Given the description of an element on the screen output the (x, y) to click on. 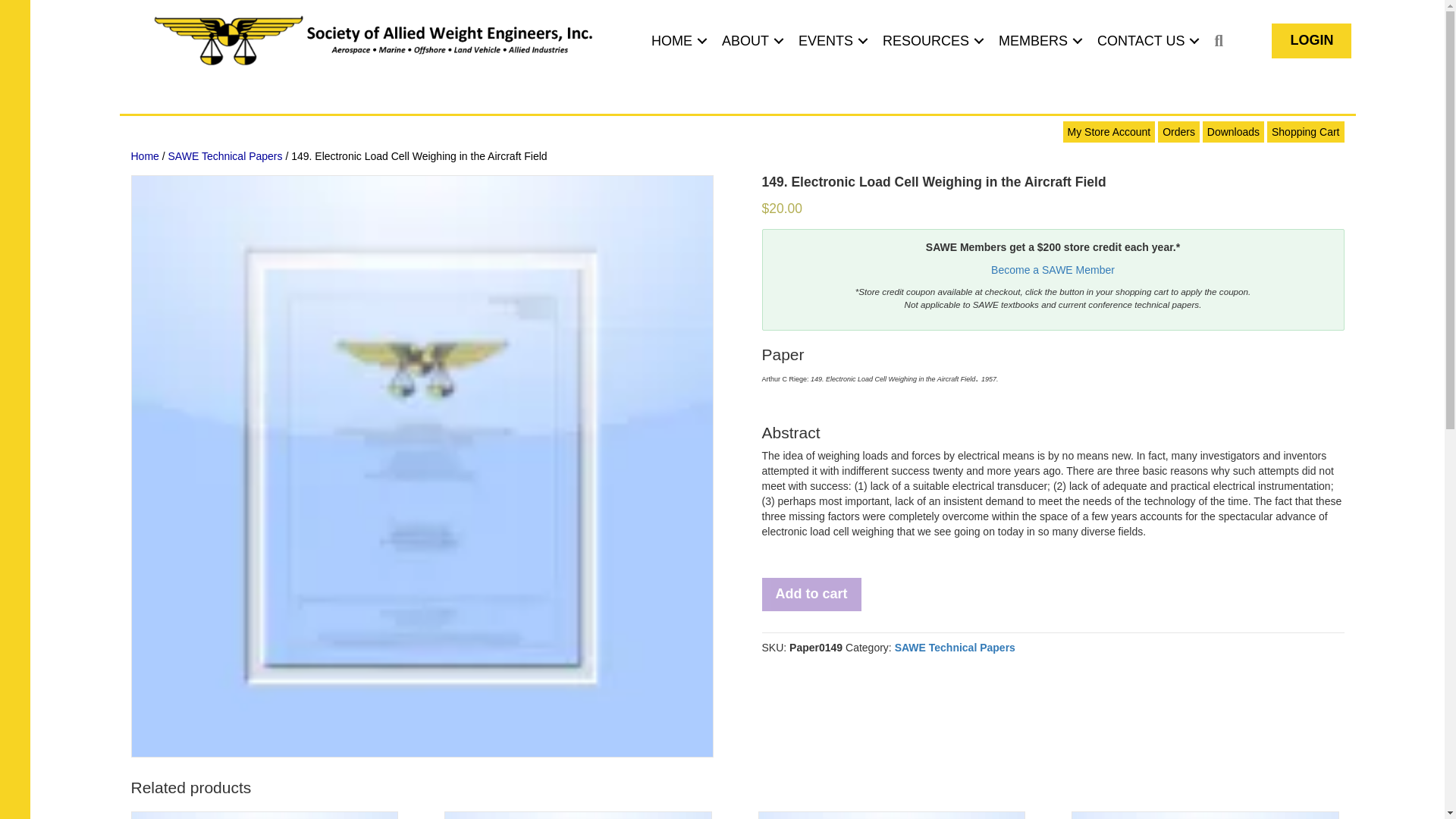
EVENTS (830, 40)
ABOUT (751, 40)
HOME (676, 40)
RESOURCES (930, 40)
